Given the description of an element on the screen output the (x, y) to click on. 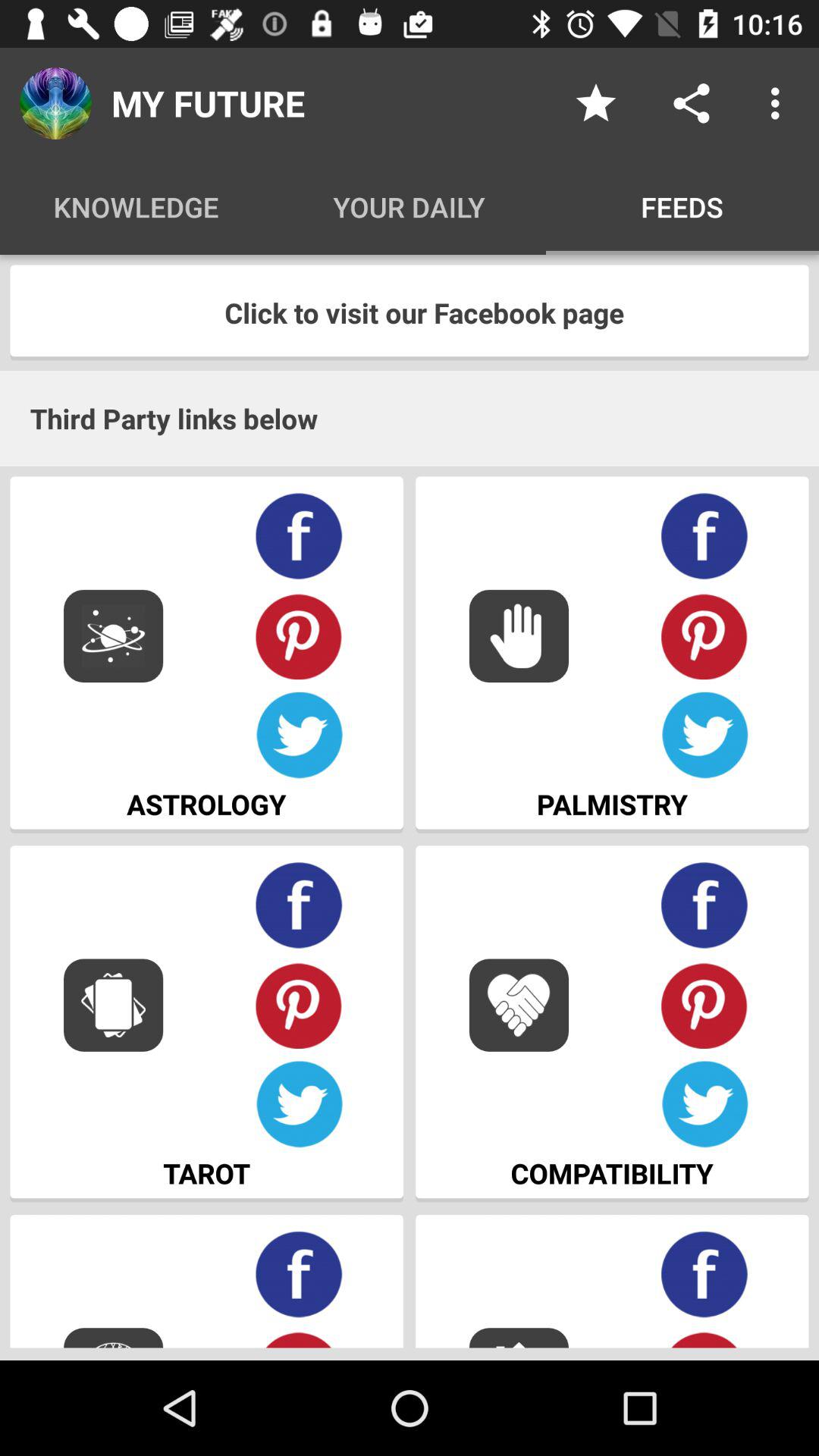
choose the click to visit icon (409, 312)
